Given the description of an element on the screen output the (x, y) to click on. 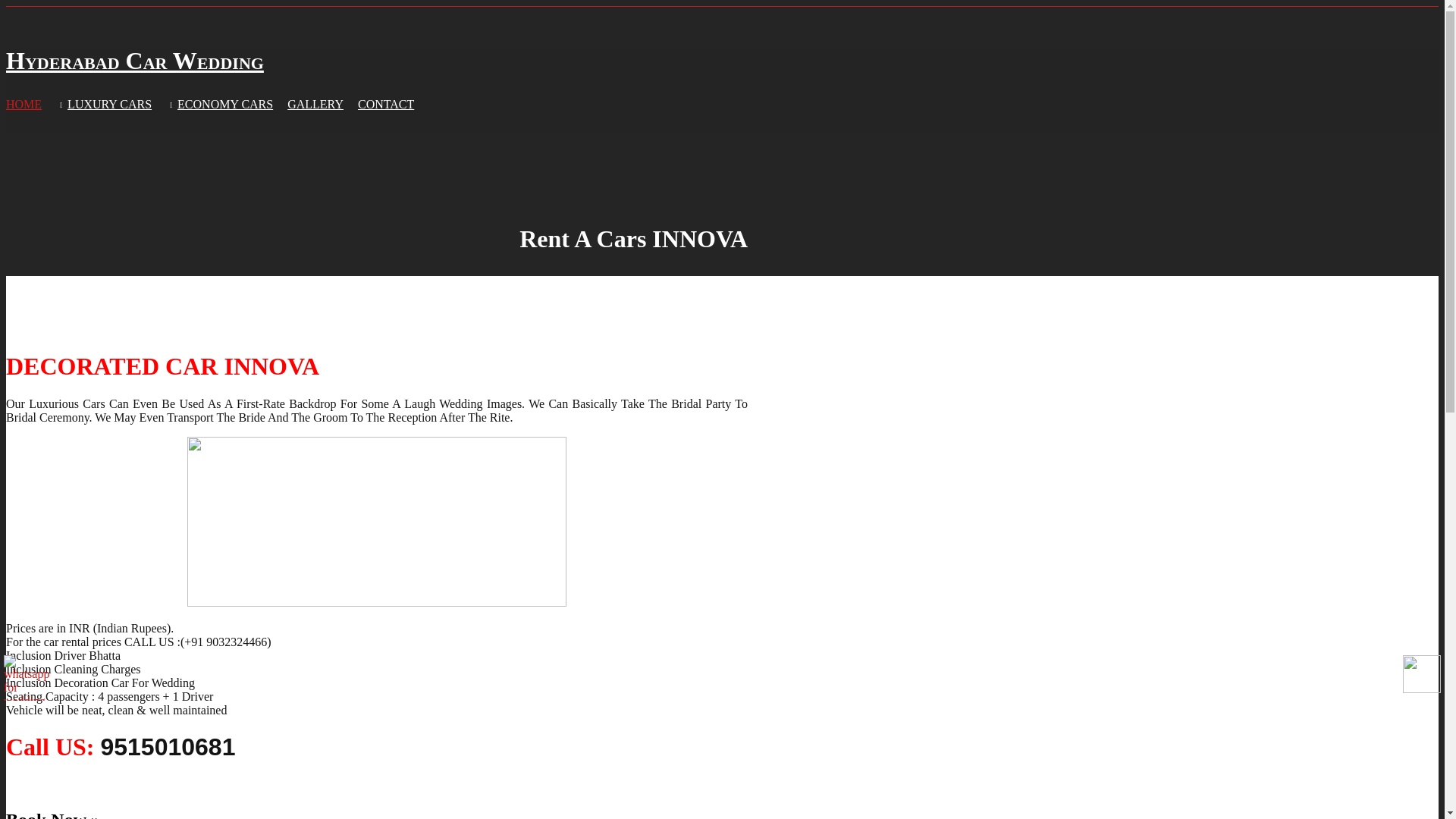
LUXURY CARS (103, 104)
HOME (23, 104)
GALLERY (314, 104)
ECONOMY CARS (219, 104)
CONTACT (385, 104)
Hyderabad Car Wedding (134, 60)
